Given the description of an element on the screen output the (x, y) to click on. 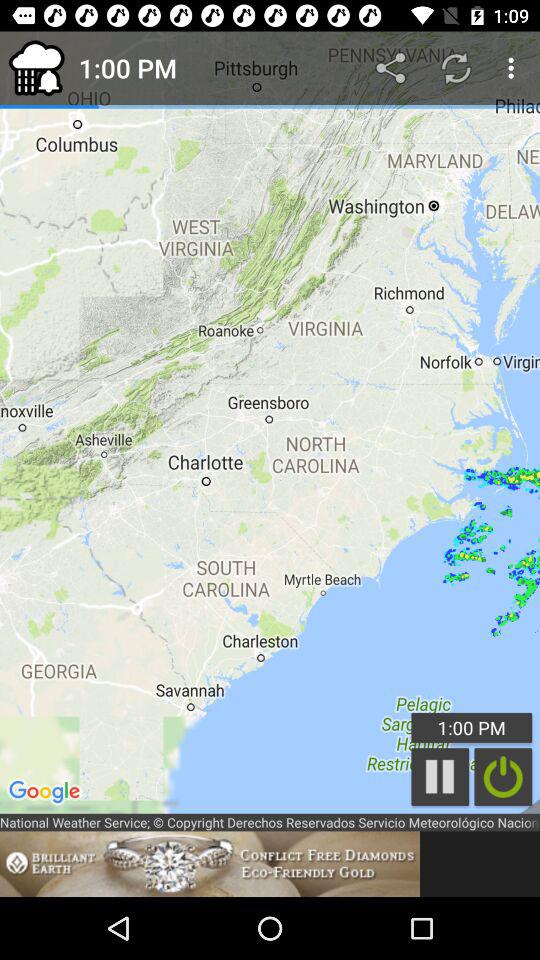
playing the current file (440, 776)
